Given the description of an element on the screen output the (x, y) to click on. 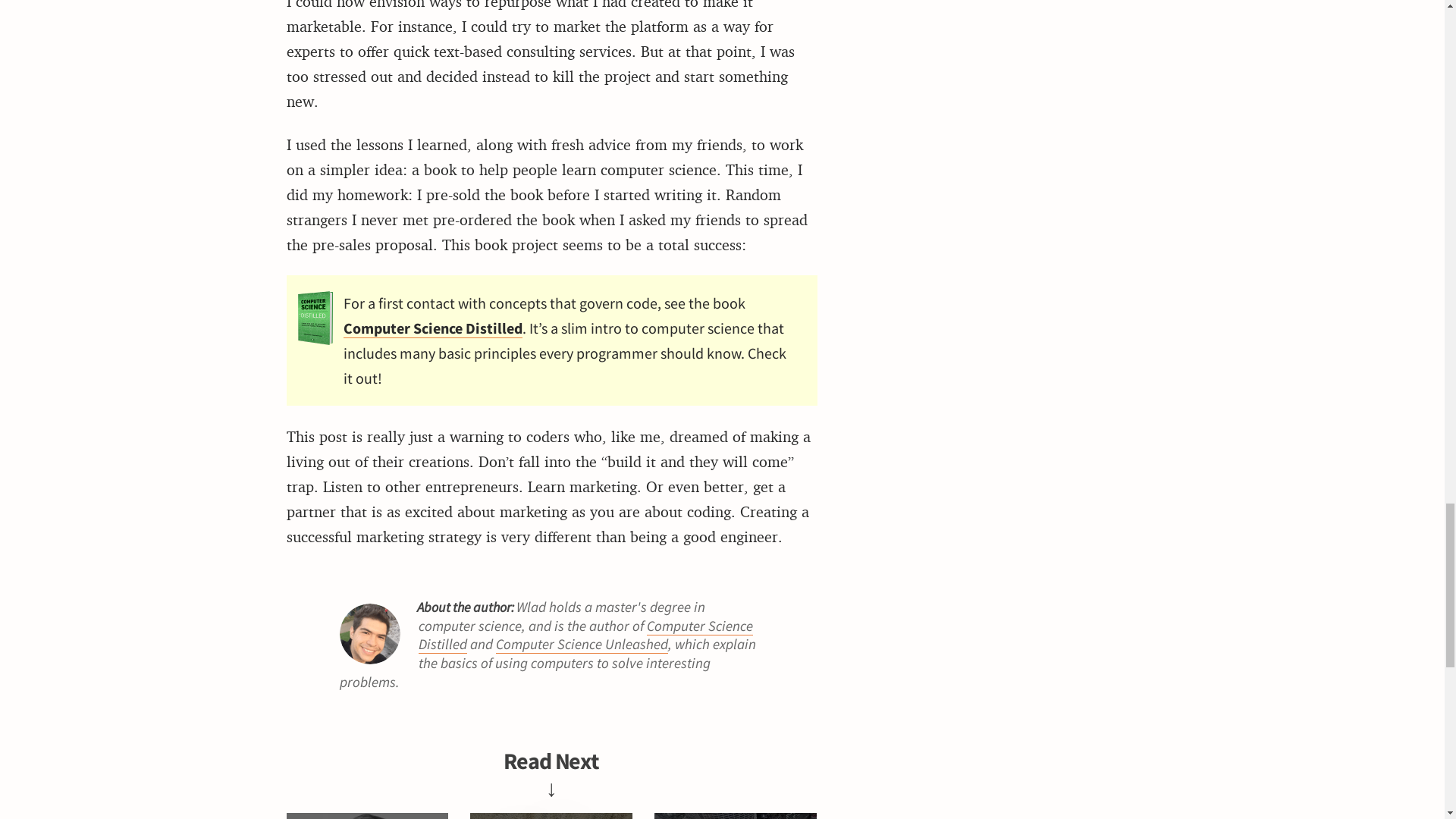
Computer Science Unleashed (582, 643)
Computer Science Distilled (431, 328)
Computer Science Distilled (585, 635)
